Given the description of an element on the screen output the (x, y) to click on. 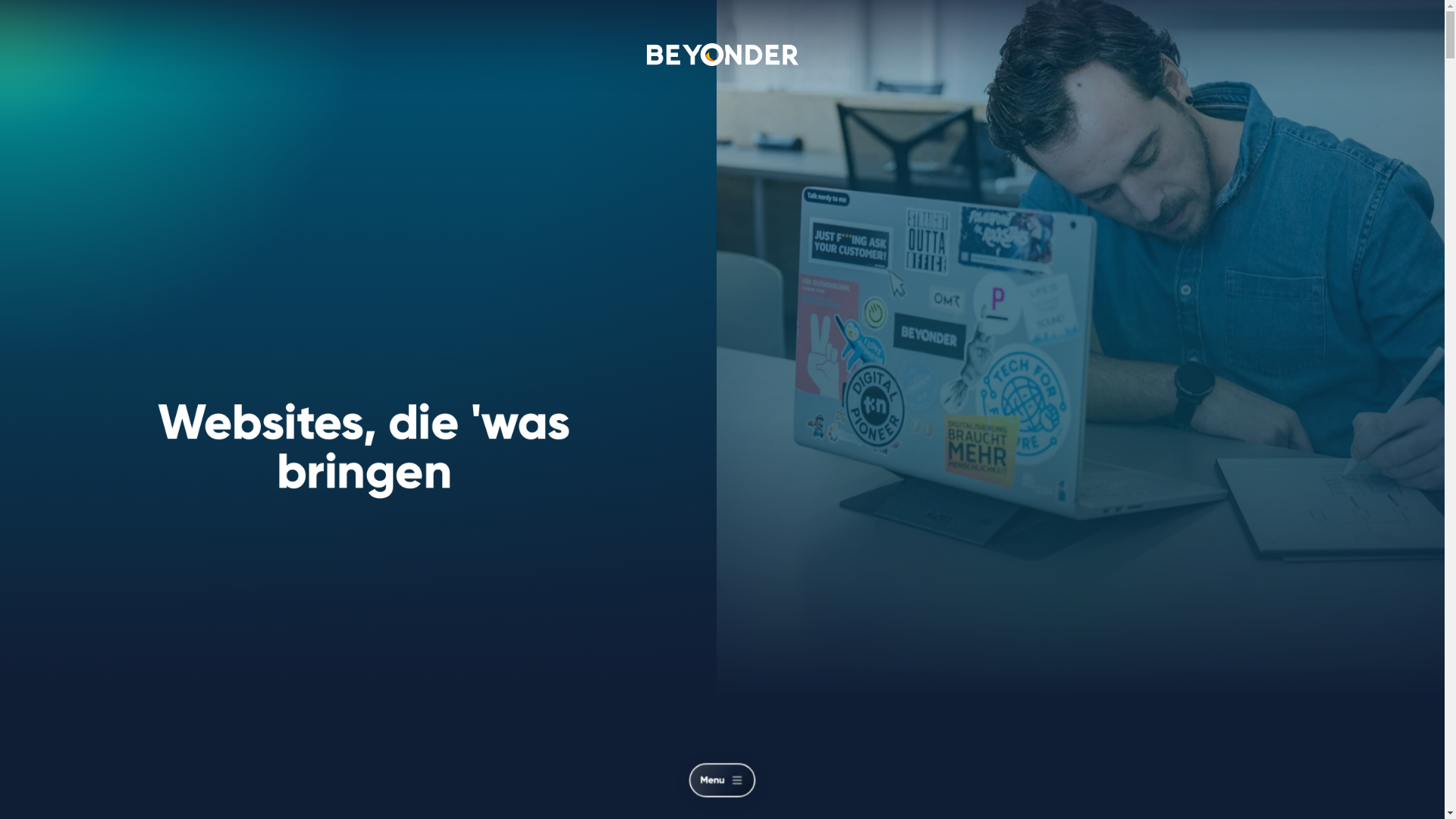
Menu Element type: text (730, 783)
